Given the description of an element on the screen output the (x, y) to click on. 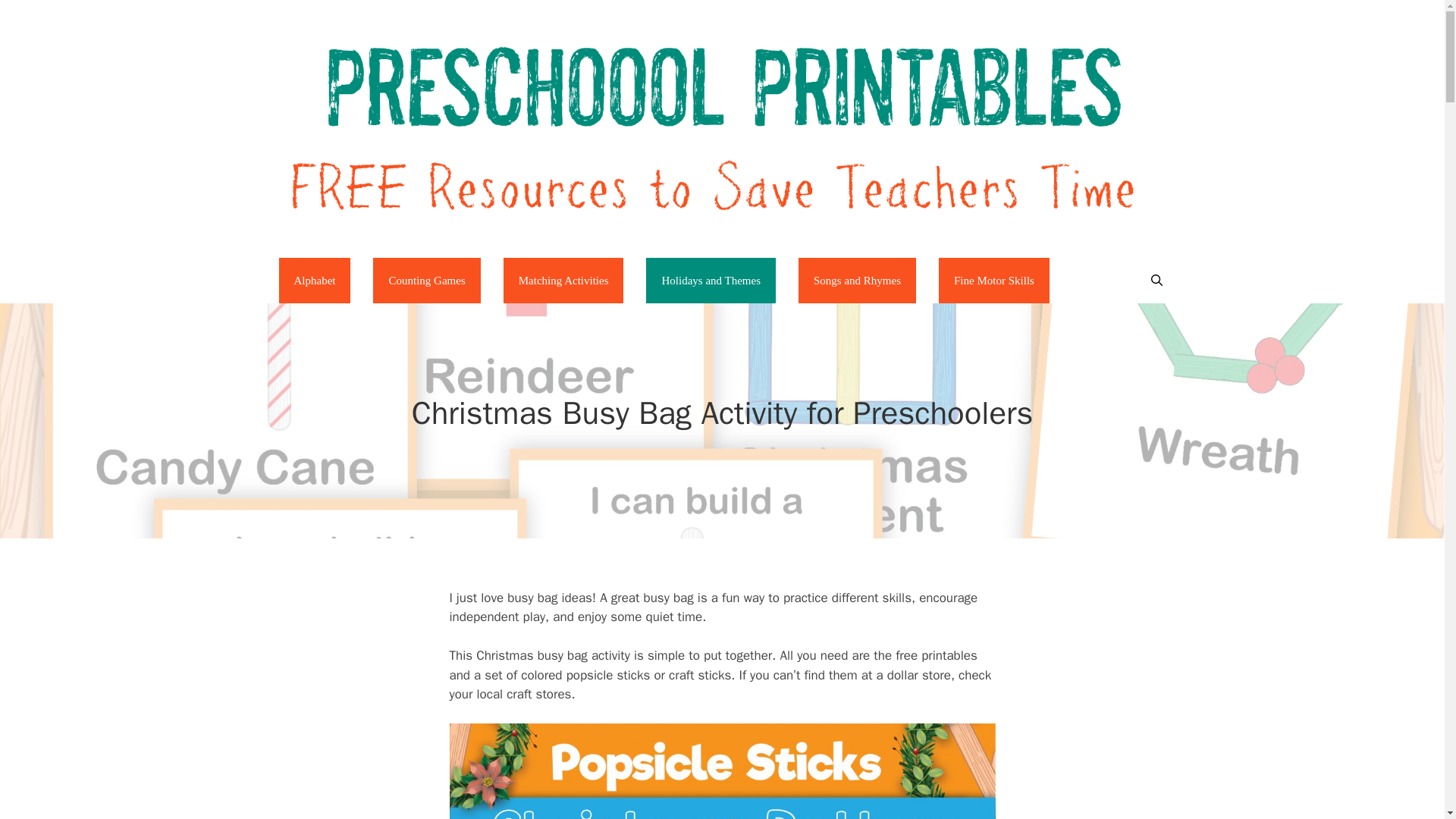
Matching Activities (563, 280)
Free Preschool Printables (721, 127)
Alphabet (314, 280)
Songs and Rhymes (856, 280)
Holidays and Themes (711, 280)
Fine Motor Skills (994, 280)
Counting Games (426, 280)
